Given the description of an element on the screen output the (x, y) to click on. 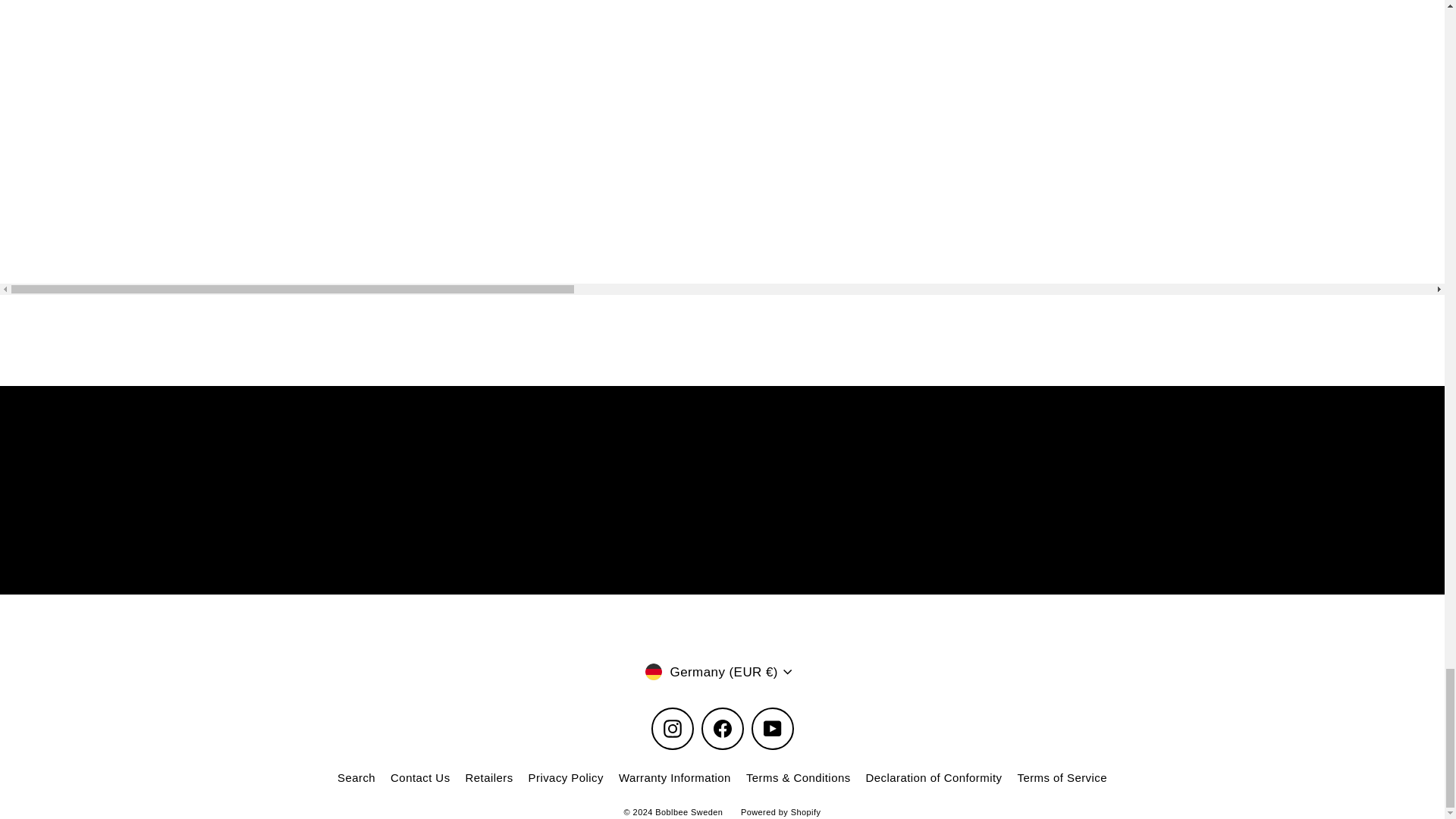
Boblbee Sweden on YouTube (772, 728)
instagram (671, 728)
Boblbee Sweden on Instagram (671, 728)
Boblbee Sweden on Facebook (721, 728)
